Given the description of an element on the screen output the (x, y) to click on. 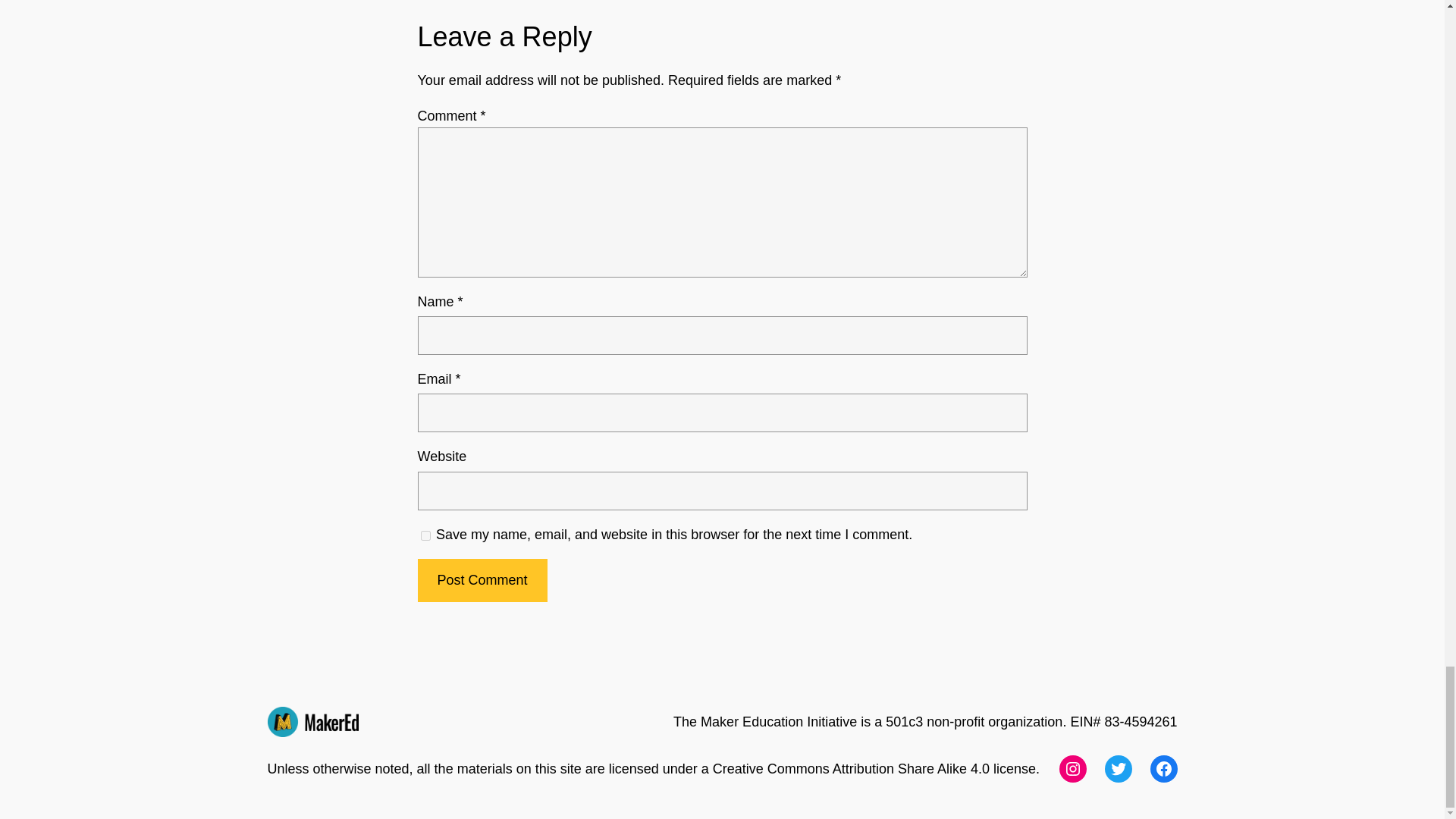
Facebook (1163, 768)
Twitter (1117, 768)
Post Comment (481, 579)
Post Comment (481, 579)
Instagram (1072, 768)
